Given the description of an element on the screen output the (x, y) to click on. 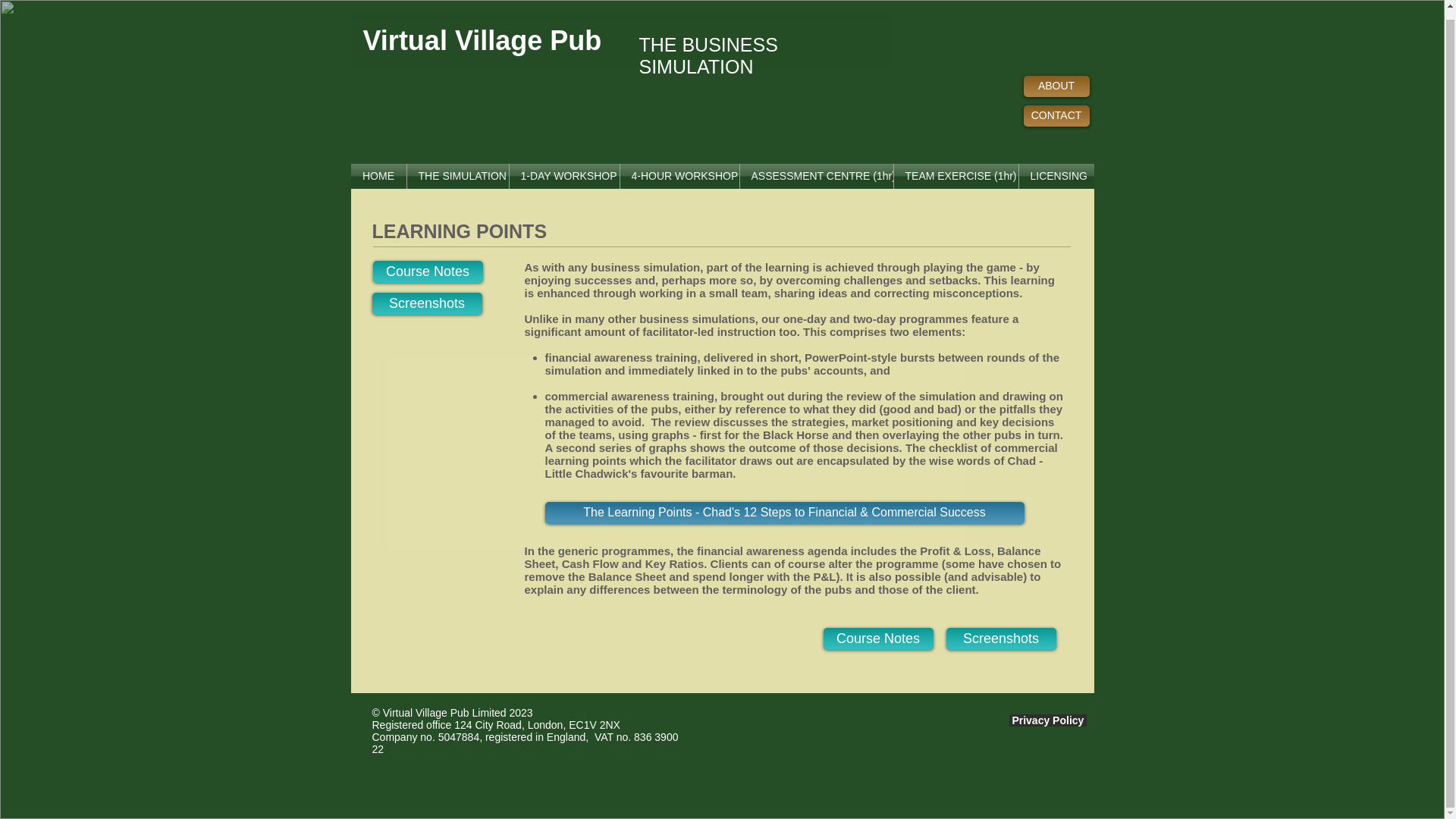
 Privacy Policy  (1047, 720)
Screenshots (1001, 639)
Course Notes (878, 639)
THE SIMULATION (457, 176)
 Virtual Village Pub   (485, 40)
HOME (378, 176)
1-DAY WORKSHOP (564, 176)
Screenshots (426, 303)
THE BUSINESS SIMULATION (708, 55)
4-HOUR WORKSHOP (679, 176)
